Given the description of an element on the screen output the (x, y) to click on. 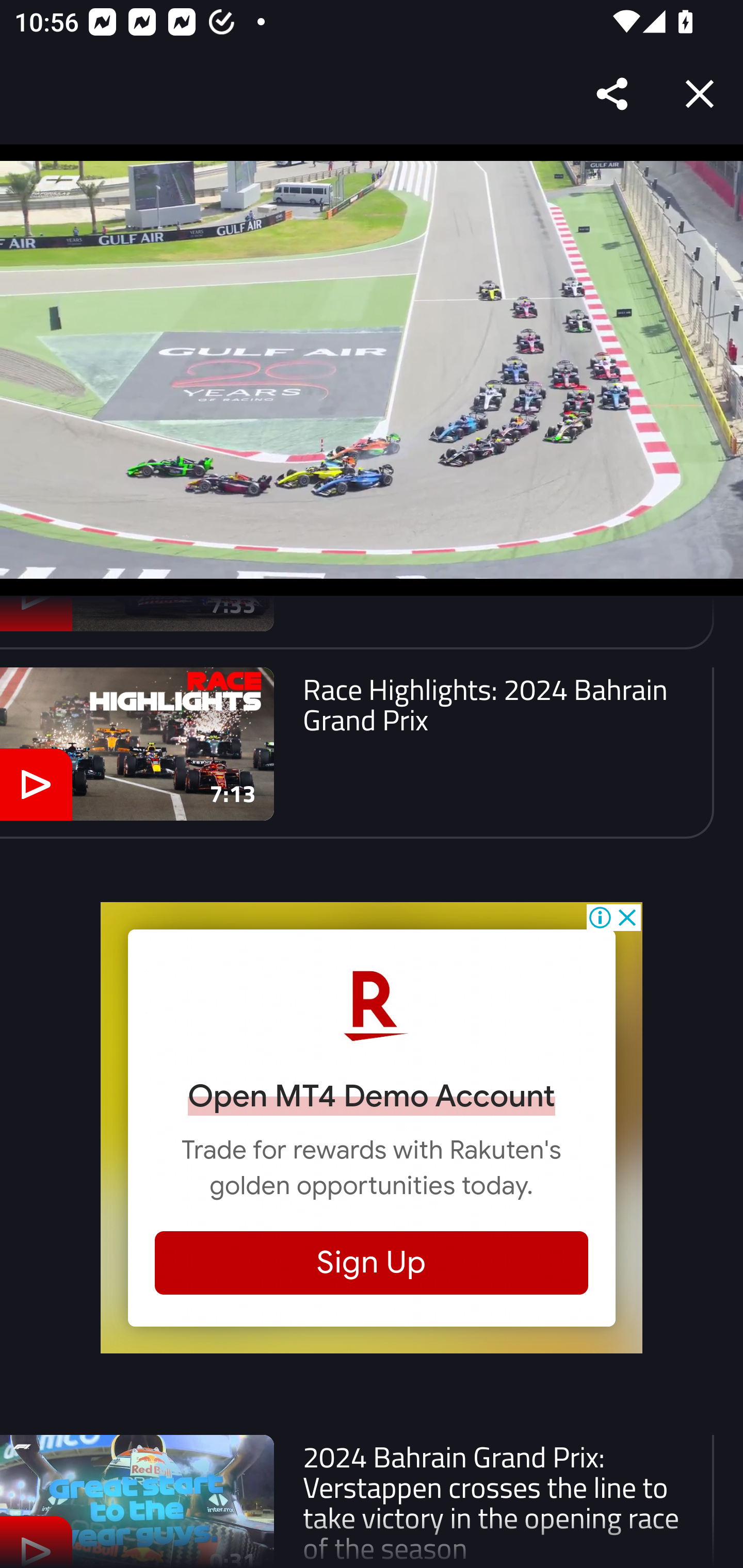
Share (612, 93)
Close (699, 93)
Video Player (371, 369)
7:13 Race Highlights: 2024 Bahrain Grand Prix (357, 752)
Open MT4 Demo Account (371, 1095)
Sign Up (371, 1262)
